Given the description of an element on the screen output the (x, y) to click on. 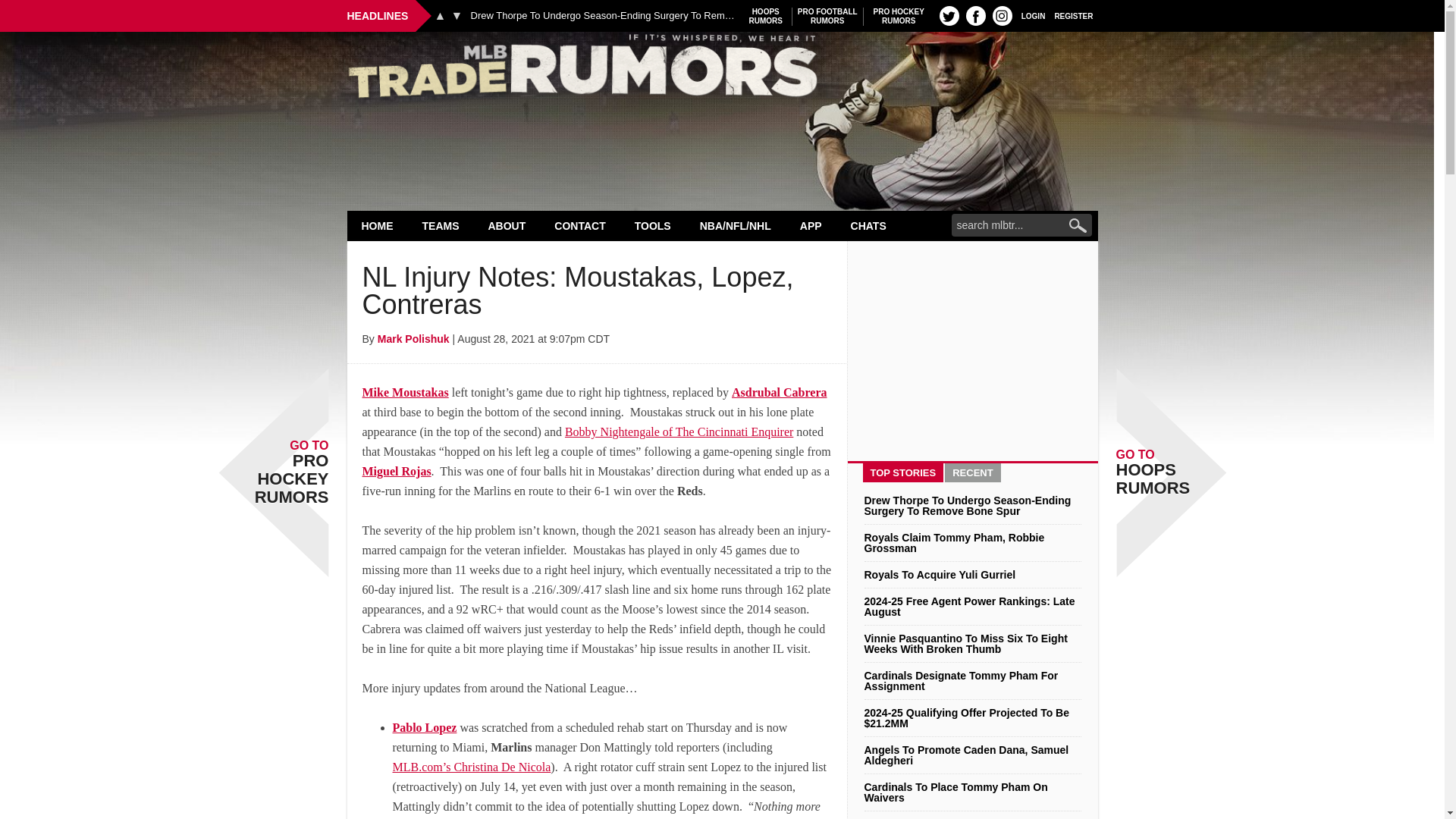
REGISTER (1073, 15)
Instagram profile (1001, 15)
Previous (898, 16)
LOGIN (439, 15)
Twitter profile (1032, 15)
Search (827, 16)
TEAMS (949, 15)
